Given the description of an element on the screen output the (x, y) to click on. 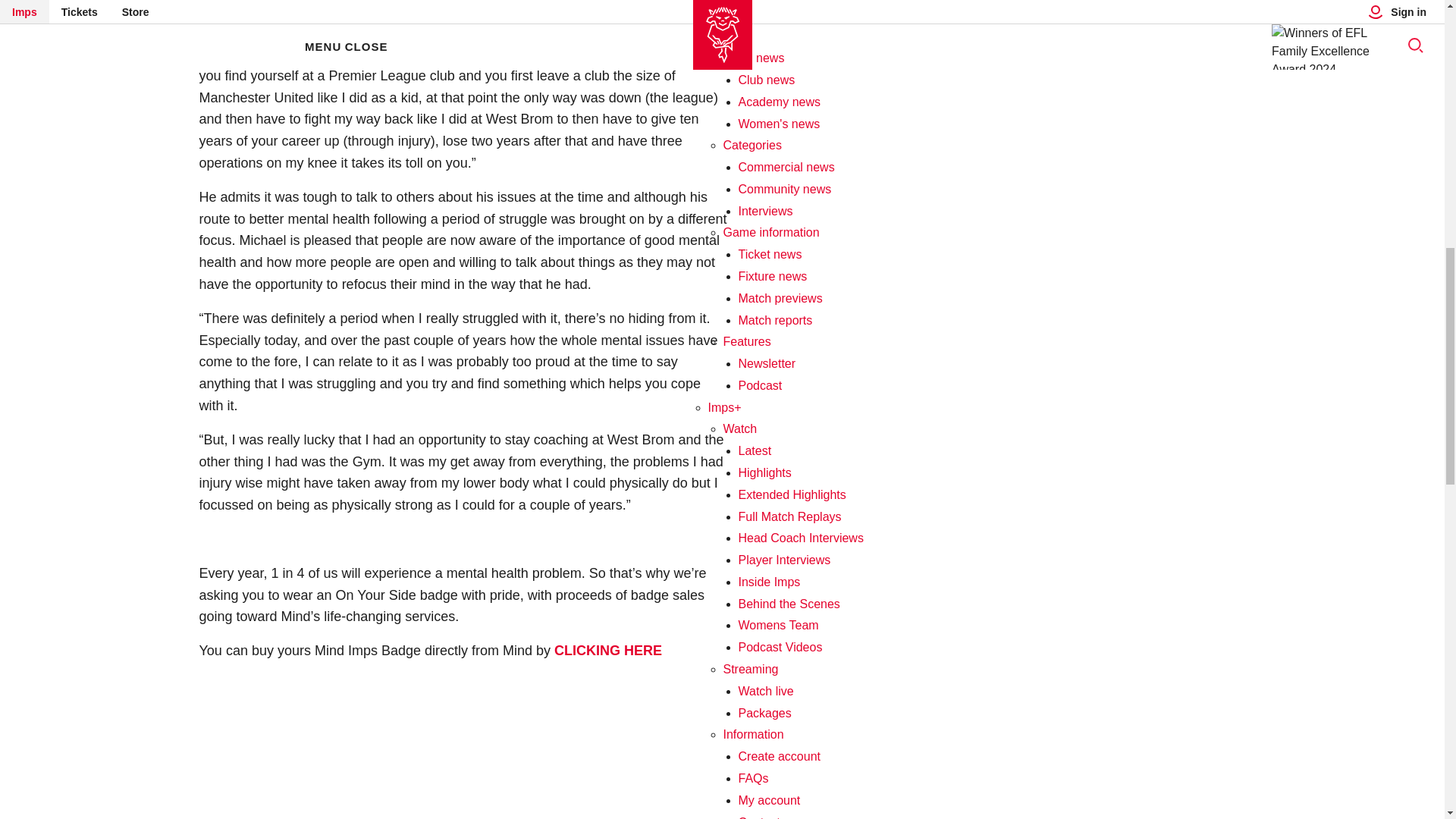
Click here for staff profiles (772, 177)
Click for information (795, 308)
Click for contact details (759, 4)
